Given the description of an element on the screen output the (x, y) to click on. 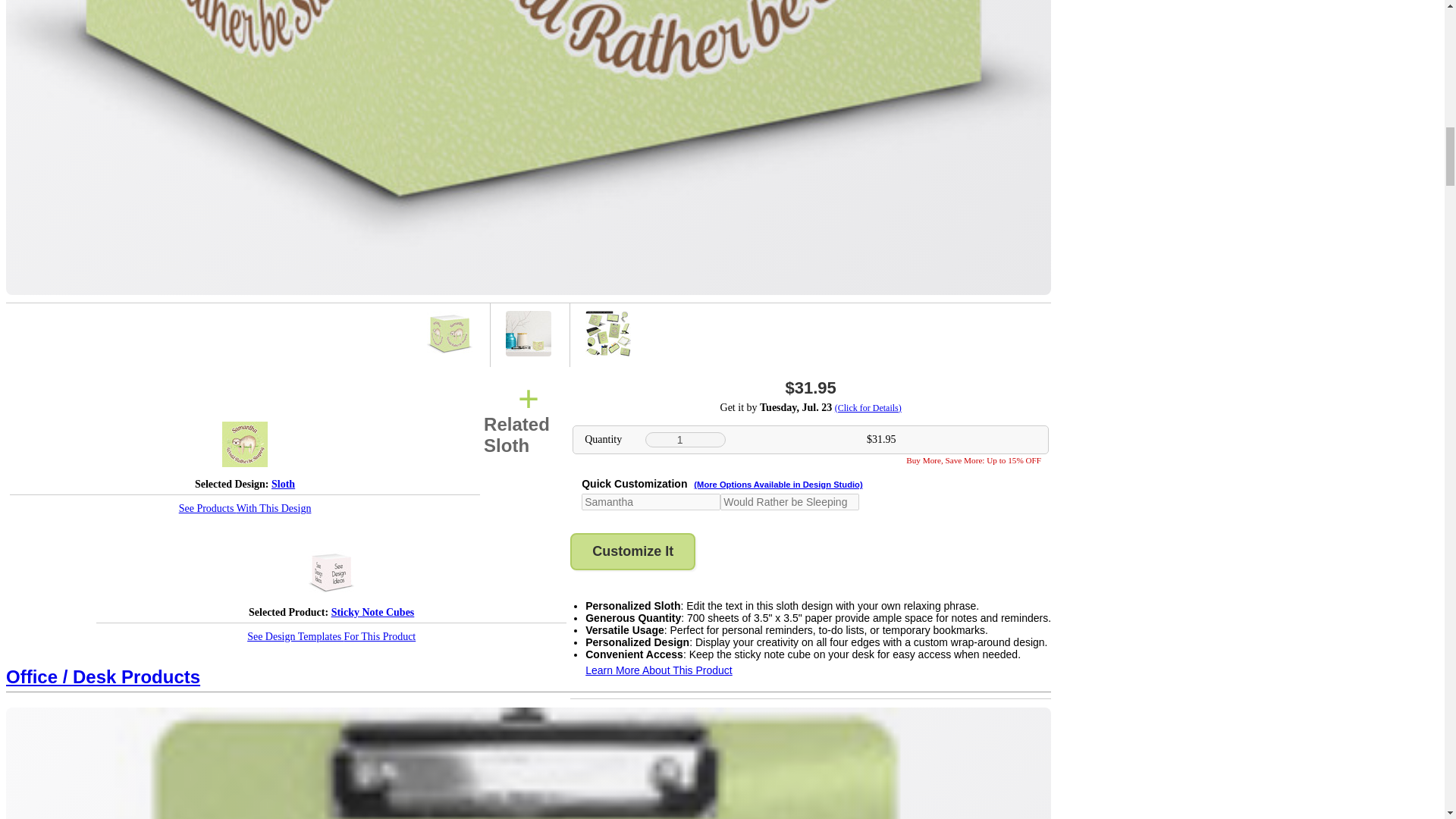
Calculate Shipping (810, 408)
1 (685, 439)
Learn More About This Product (658, 670)
